Given the description of an element on the screen output the (x, y) to click on. 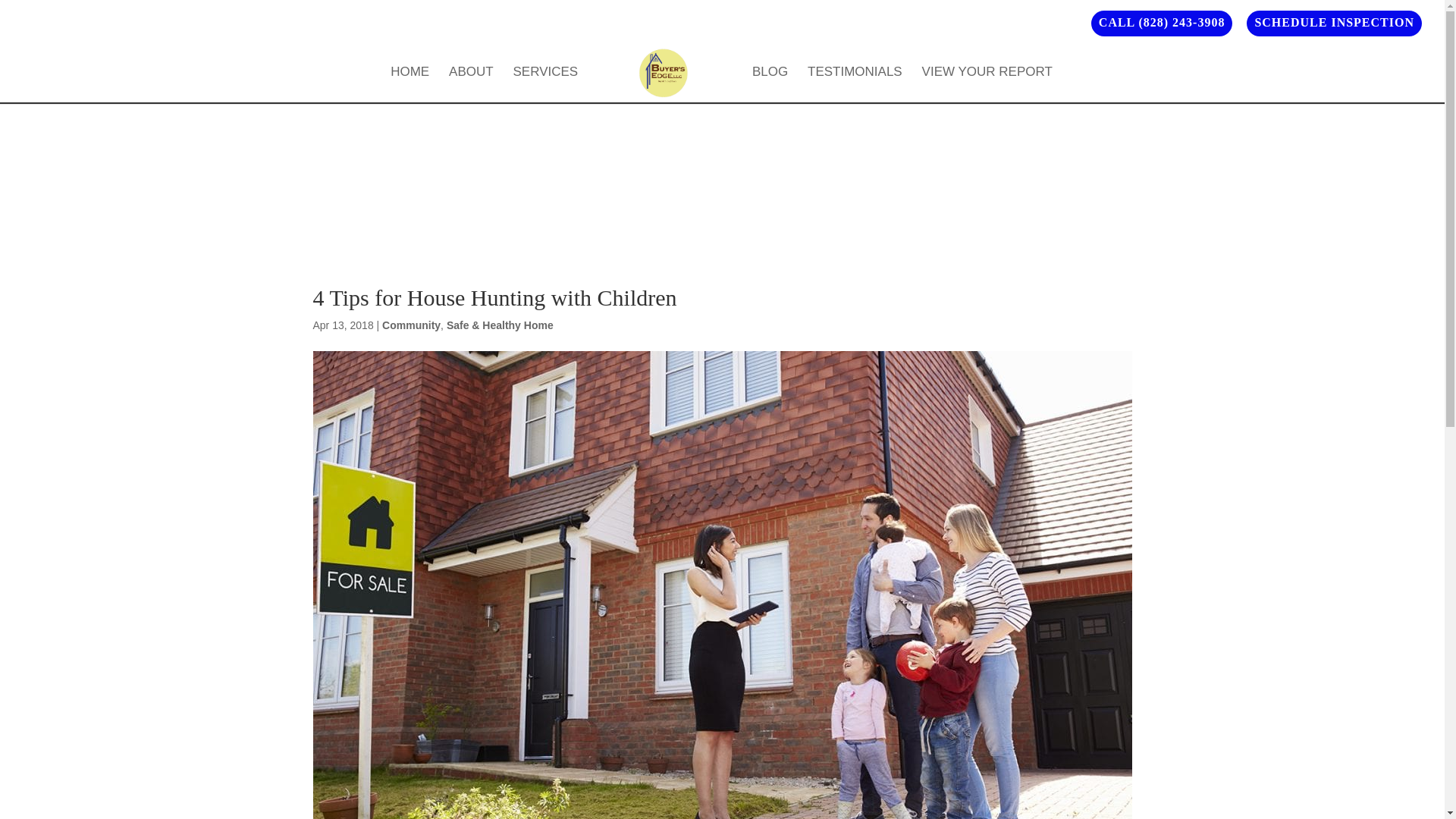
HOME (409, 84)
BLOG (769, 84)
VIEW YOUR REPORT (986, 84)
ABOUT (470, 84)
SERVICES (545, 84)
TESTIMONIALS (855, 84)
SCHEDULE INSPECTION (1333, 27)
Community (411, 325)
